Given the description of an element on the screen output the (x, y) to click on. 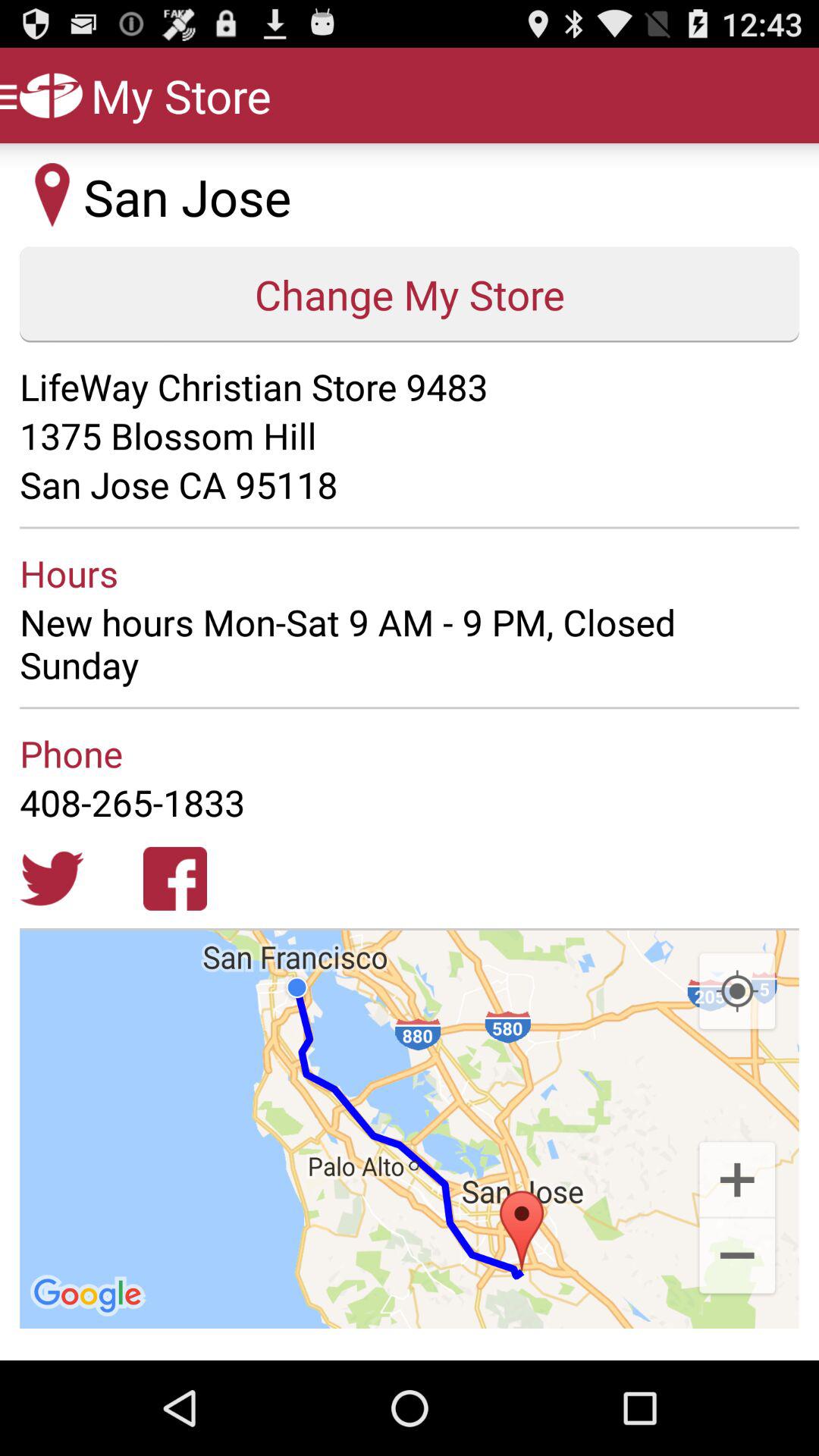
select icon below the 408-265-1833 item (737, 991)
